Given the description of an element on the screen output the (x, y) to click on. 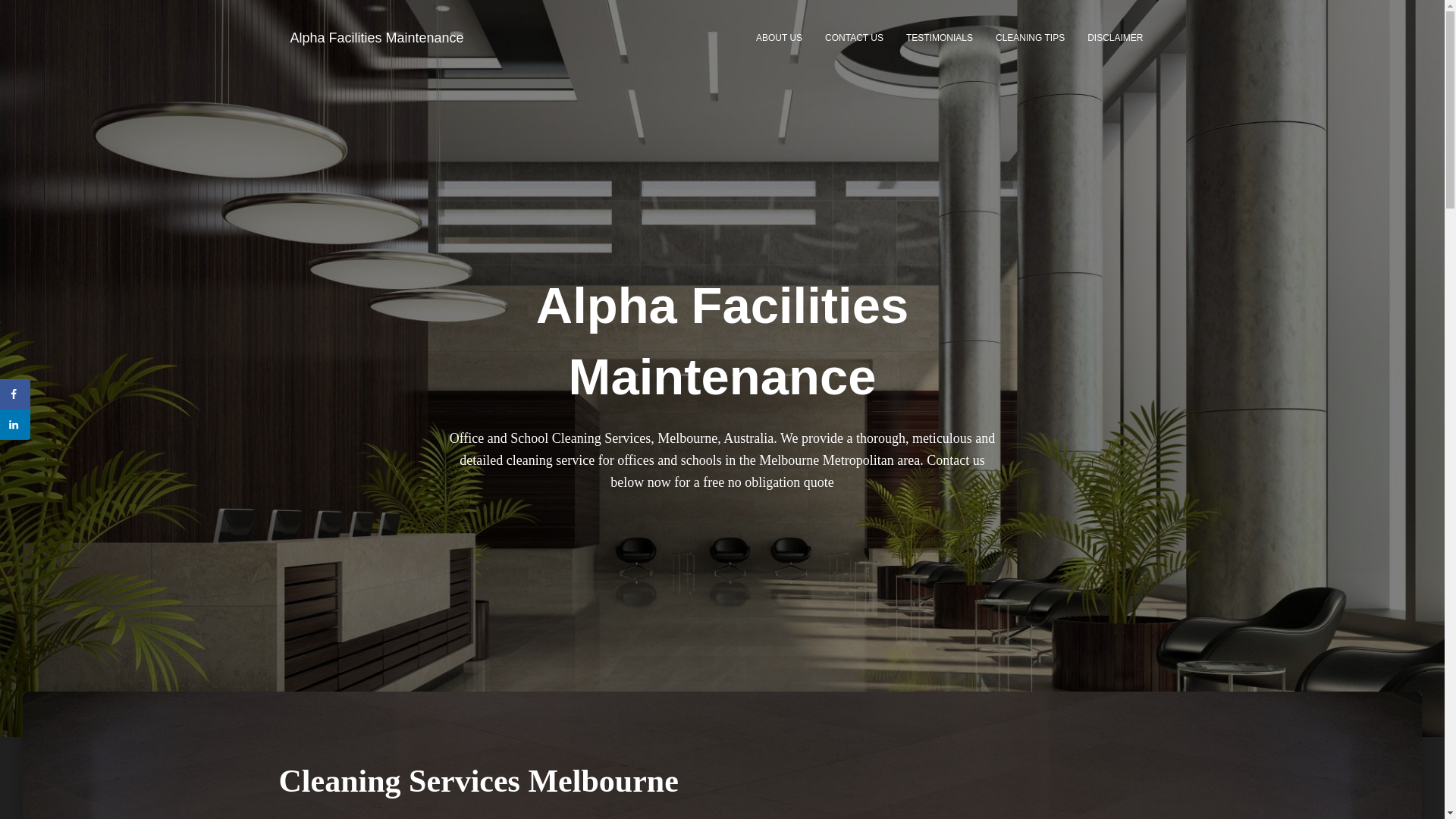
Testimonials (939, 37)
Cleaning Tips (1029, 37)
TESTIMONIALS (939, 37)
CLEANING TIPS (1029, 37)
Contact Us (854, 37)
CONTACT US (854, 37)
Alpha Facilities Maintenance (377, 37)
ABOUT US (778, 37)
Alpha Facilities Maintenance (377, 37)
DISCLAIMER (1114, 37)
Disclaimer (1114, 37)
About us (778, 37)
